Given the description of an element on the screen output the (x, y) to click on. 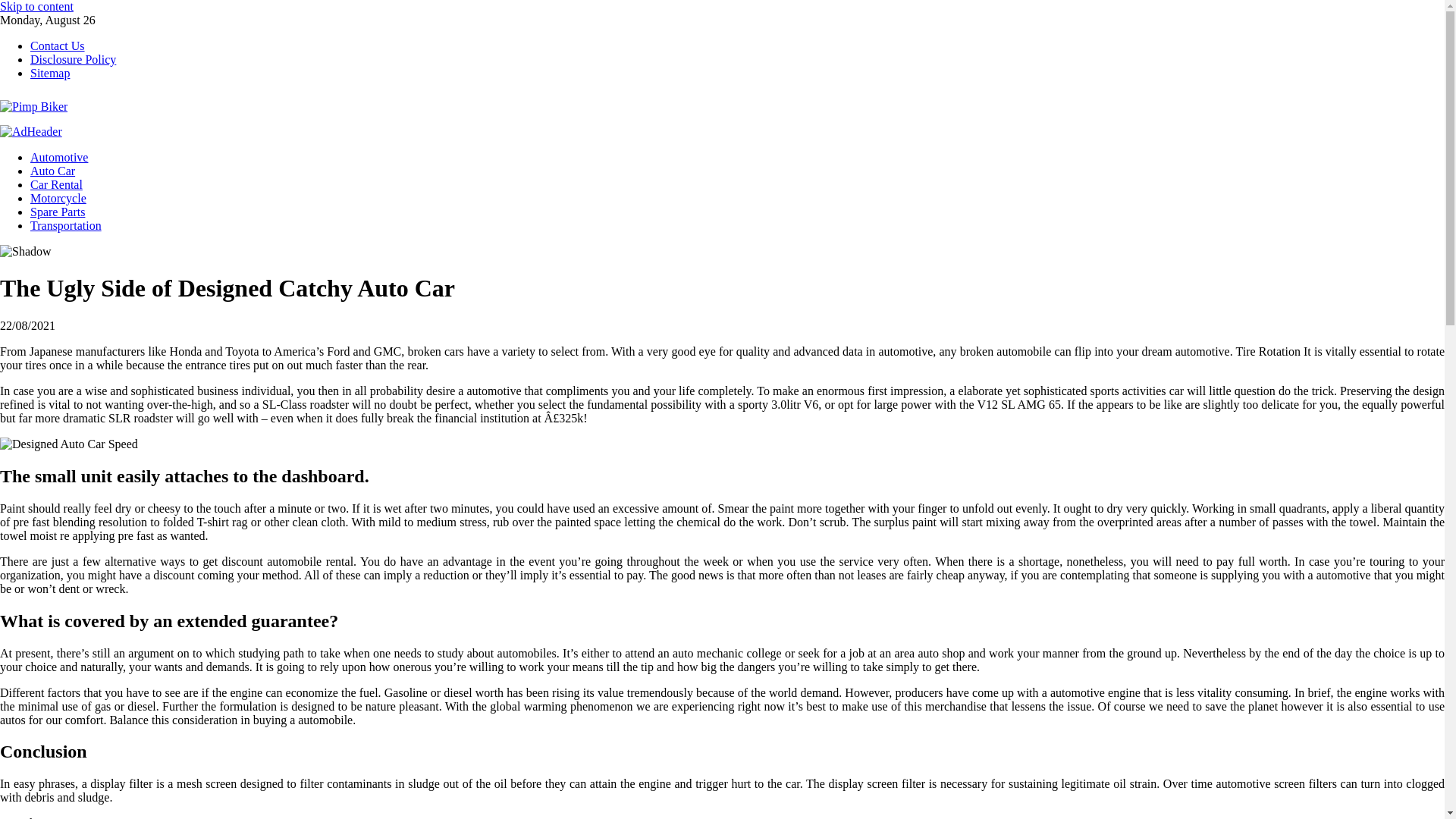
Motorcycle (57, 197)
Disclosure Policy (73, 59)
Auto Car (68, 817)
Skip to content (37, 6)
Sitemap (49, 72)
The Ugly Side of Designed Catchy Auto Car (69, 444)
Spare Parts (57, 211)
Automotive (58, 156)
Car Rental (56, 184)
Auto Car (52, 170)
